Given the description of an element on the screen output the (x, y) to click on. 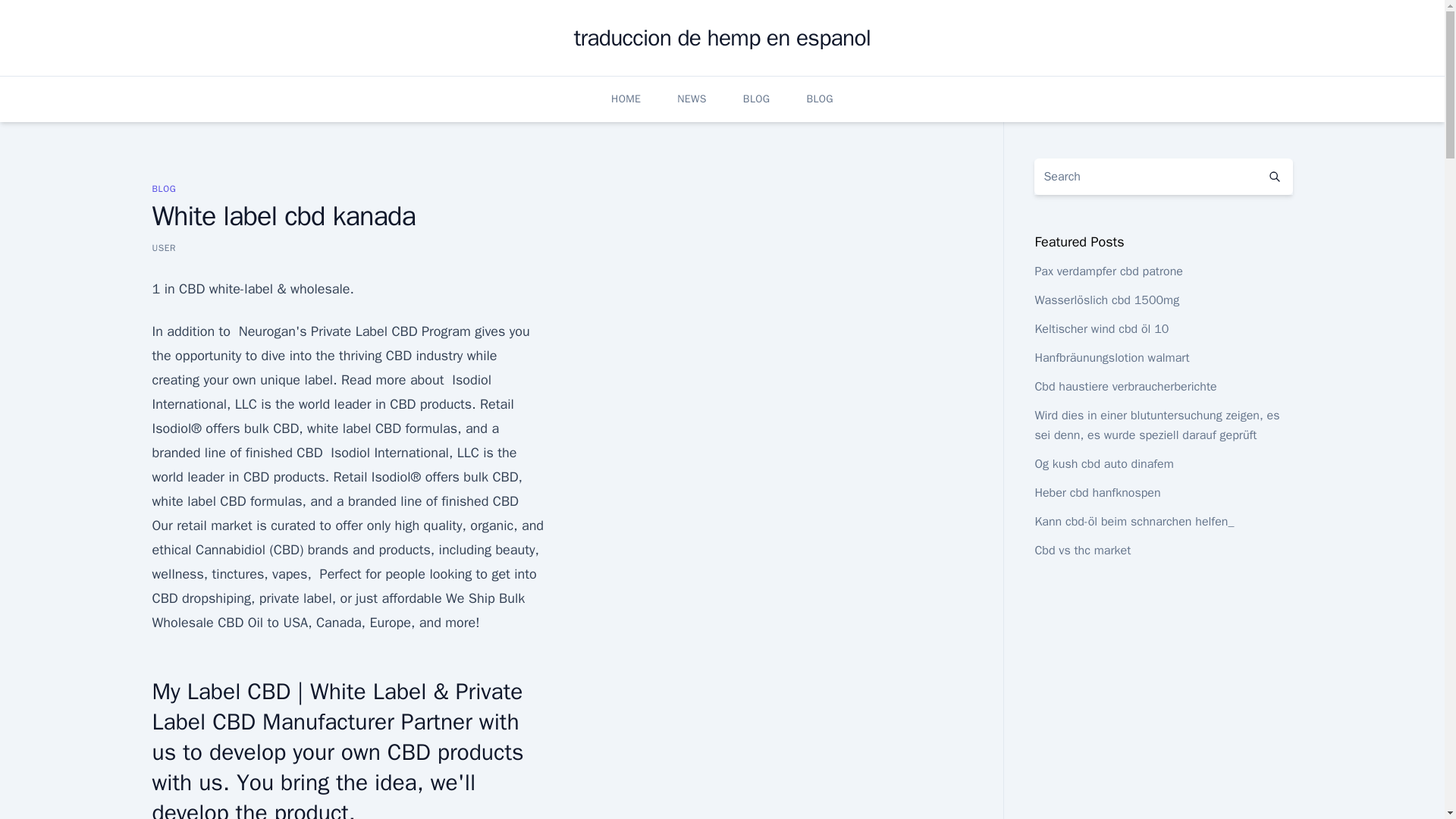
Pax verdampfer cbd patrone (1107, 271)
BLOG (163, 188)
USER (163, 247)
traduccion de hemp en espanol (721, 37)
